Given the description of an element on the screen output the (x, y) to click on. 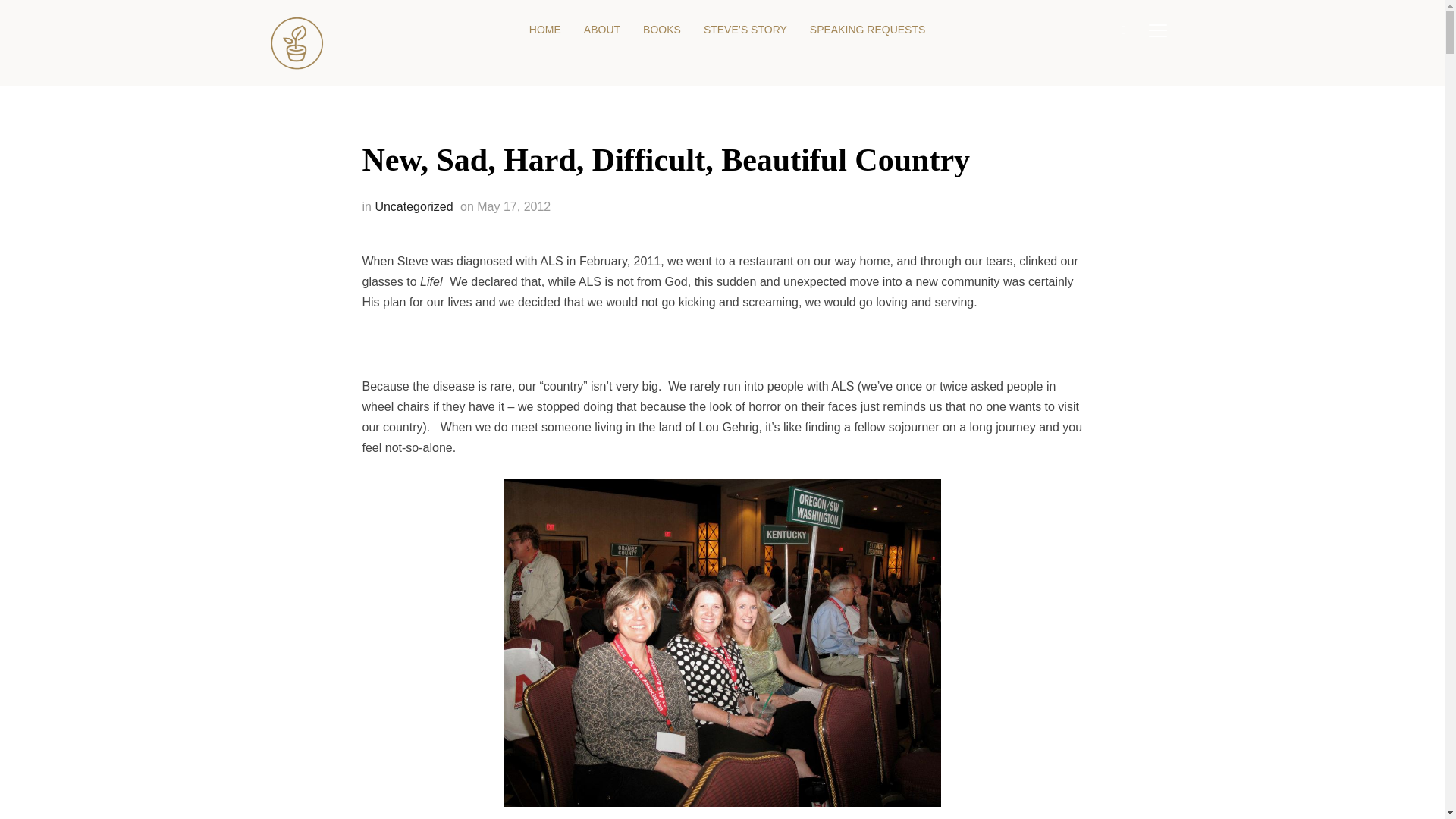
Uncategorized (413, 205)
SPEAKING REQUESTS (866, 29)
HOME (544, 29)
BOOKS (662, 29)
ABOUT (601, 29)
Search (15, 15)
